Given the description of an element on the screen output the (x, y) to click on. 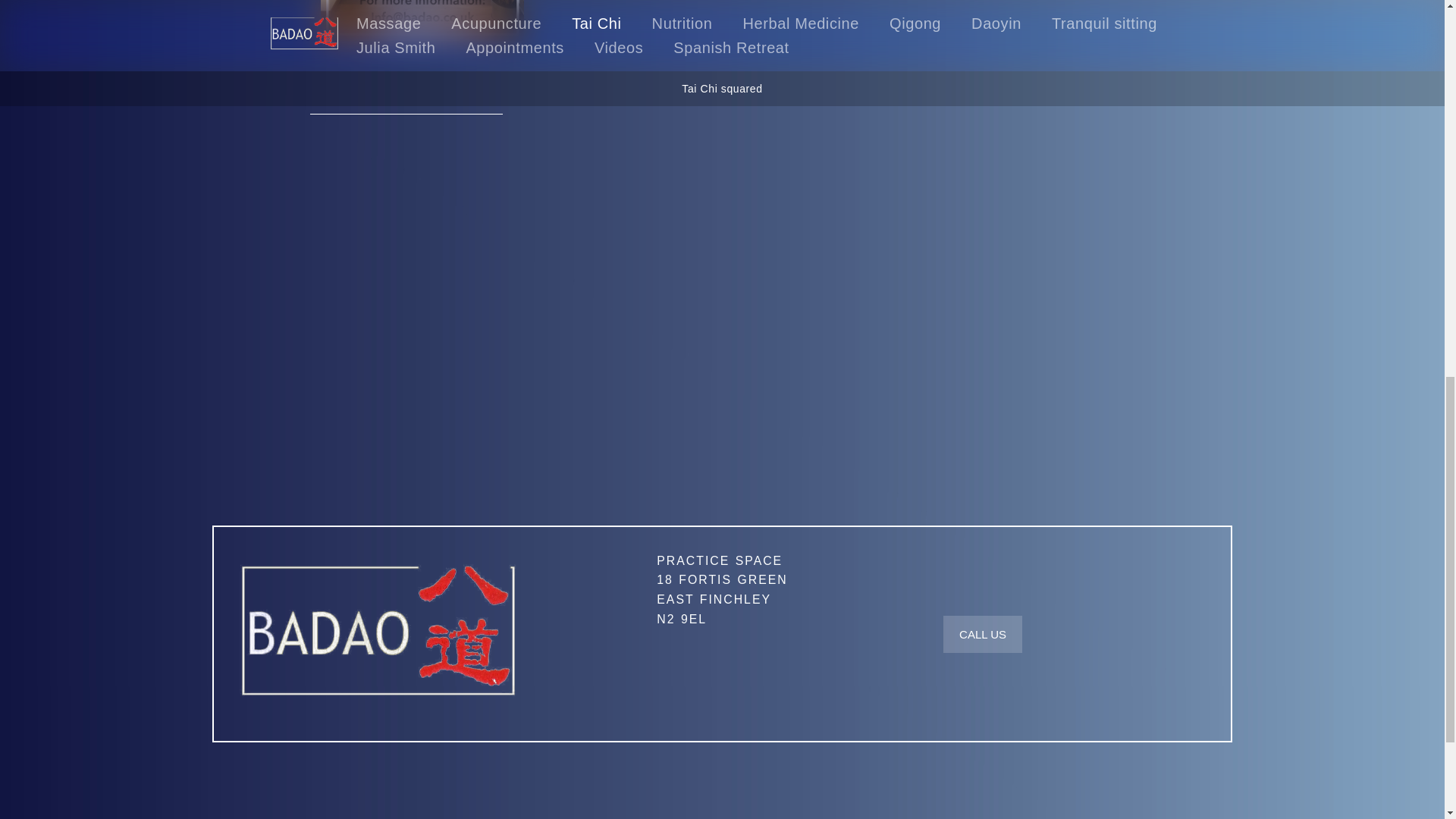
Contact (721, 589)
CALL US (982, 633)
Contact (982, 633)
